Given the description of an element on the screen output the (x, y) to click on. 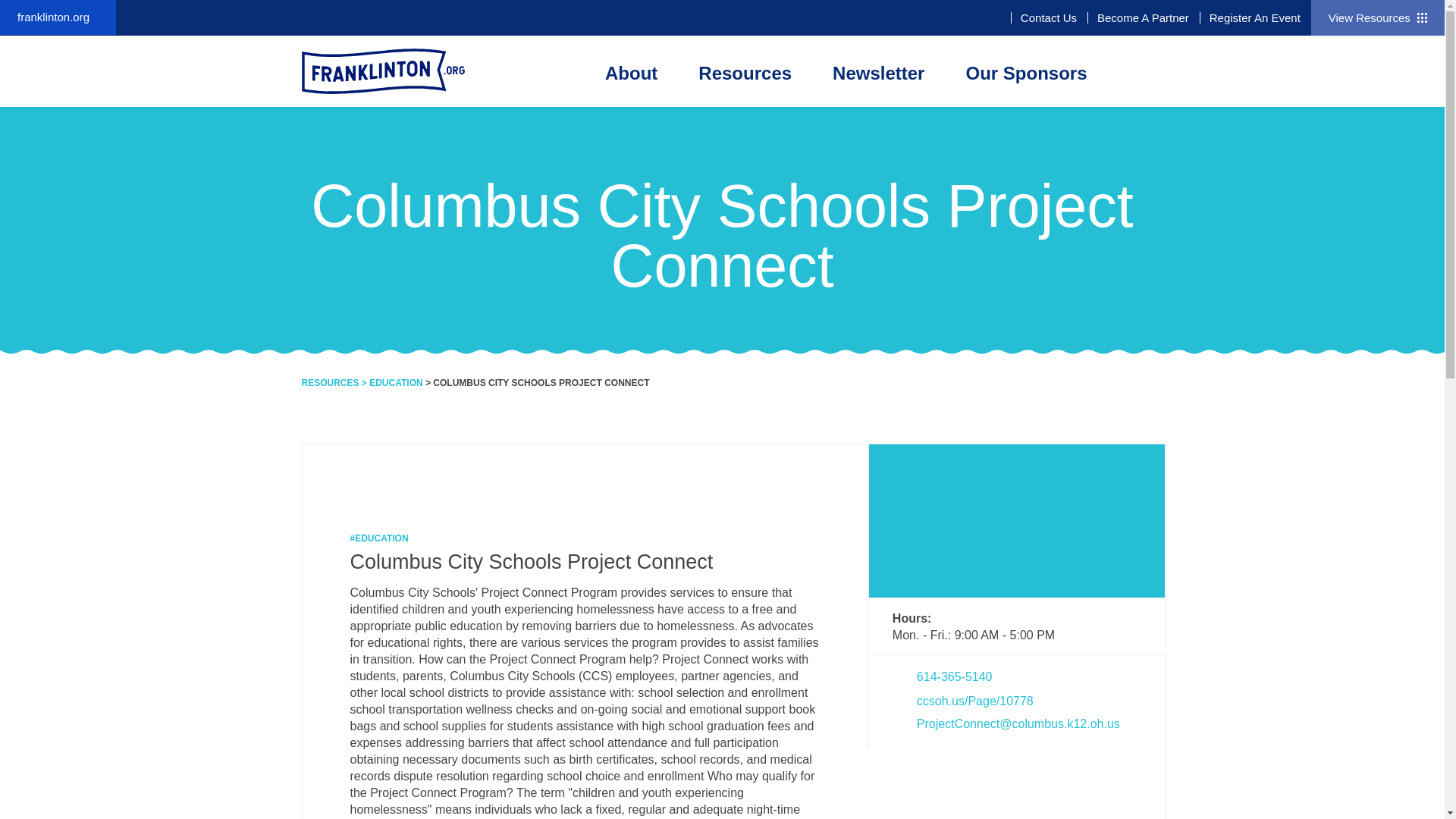
Register An Event (1254, 17)
About (631, 73)
Become A Partner (1143, 17)
Newsletter (878, 73)
Our Sponsors (1025, 73)
franklinton.org (58, 17)
Search (1077, 122)
RESOURCES (330, 382)
Resources (745, 73)
Contact Us (1048, 17)
